Given the description of an element on the screen output the (x, y) to click on. 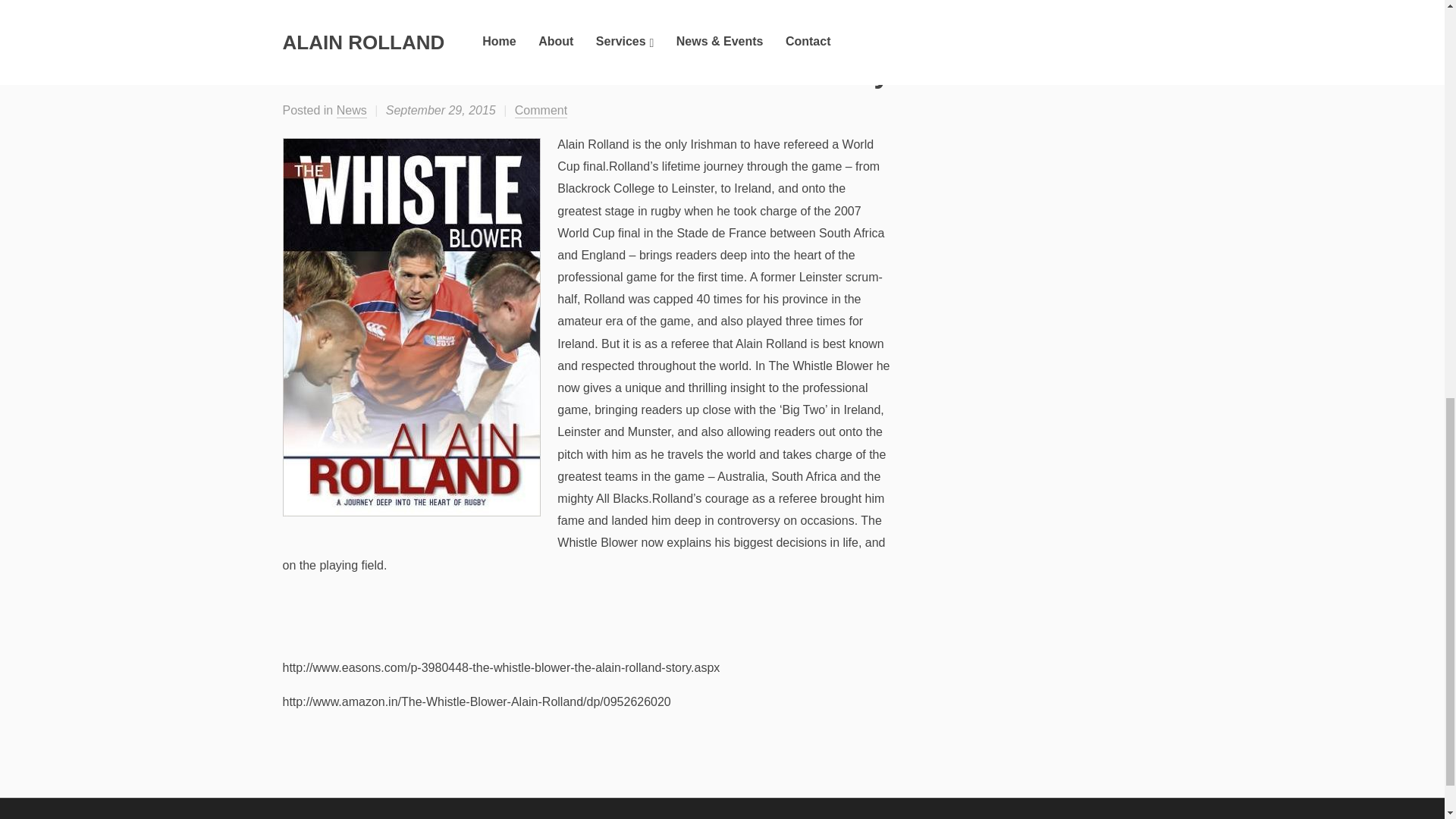
The Whistle Blower: The Alain Rolland Story (585, 72)
News (351, 110)
Comment (541, 110)
